Given the description of an element on the screen output the (x, y) to click on. 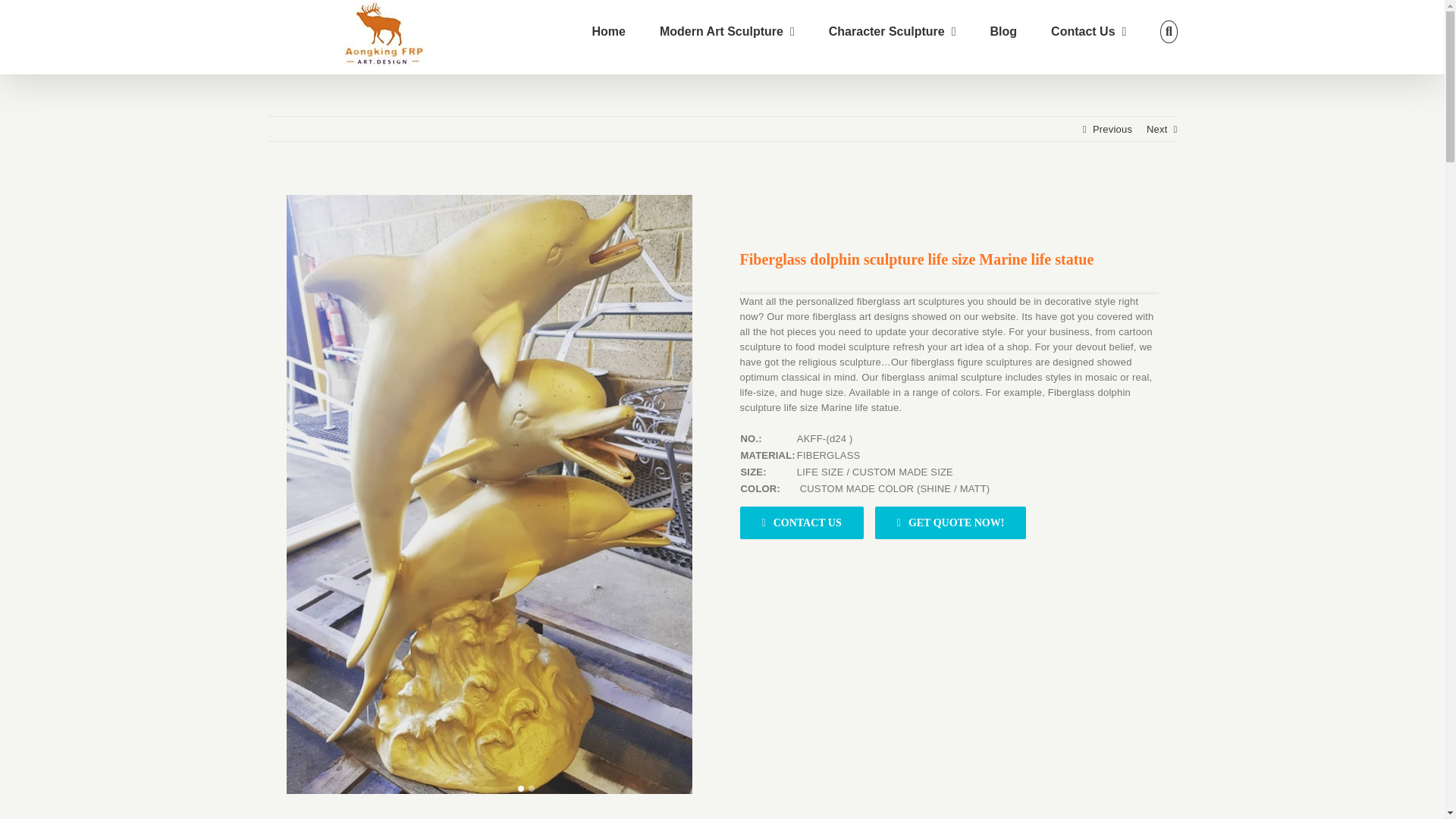
Character Sculpture (892, 31)
Modern Art Sculpture (726, 31)
Contact Us (1088, 31)
Previous (1112, 129)
GET QUOTE NOW! (950, 522)
